Given the description of an element on the screen output the (x, y) to click on. 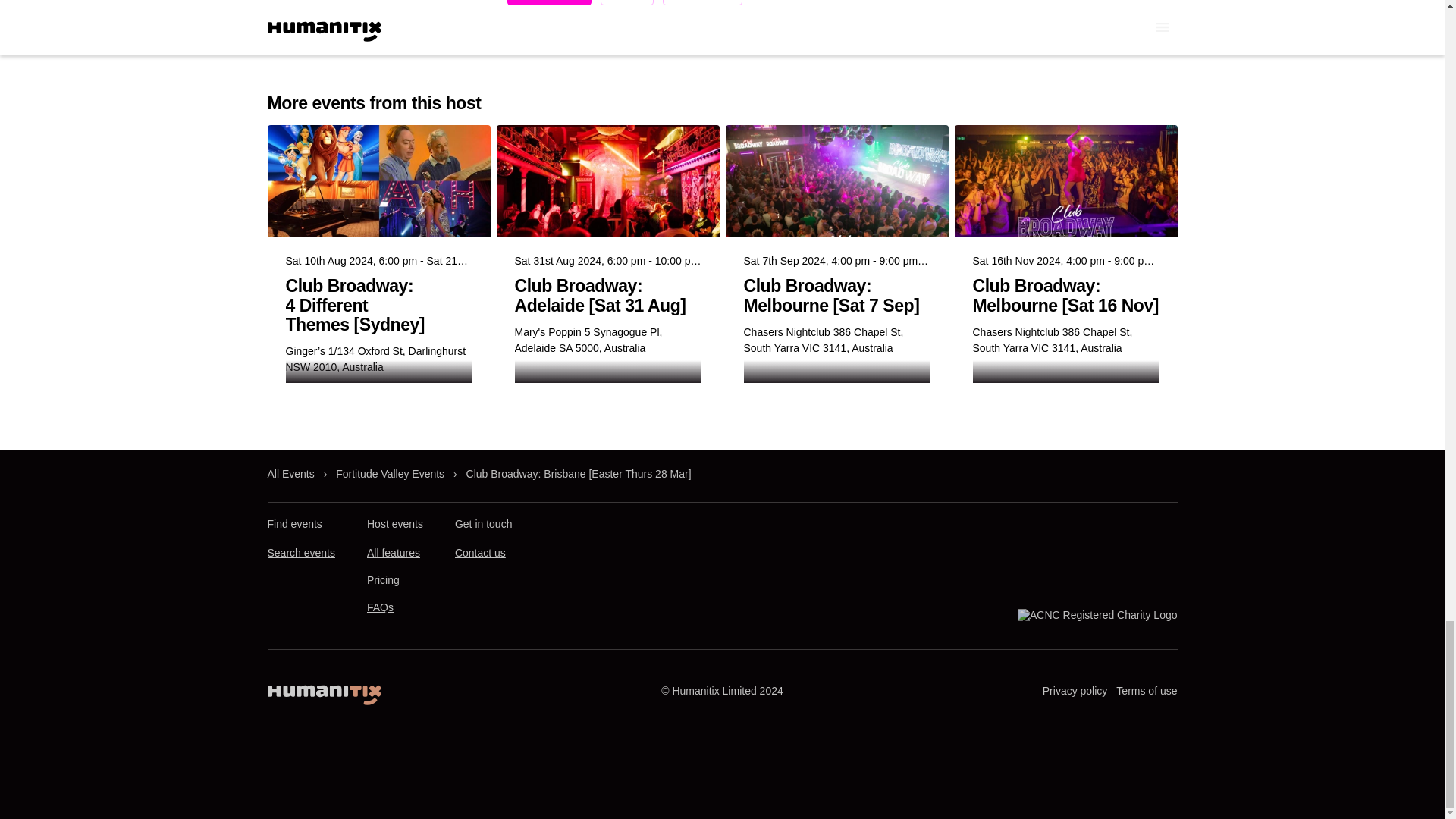
Follow (626, 2)
Contact host (548, 2)
View profile (701, 2)
All Events (290, 473)
